Given the description of an element on the screen output the (x, y) to click on. 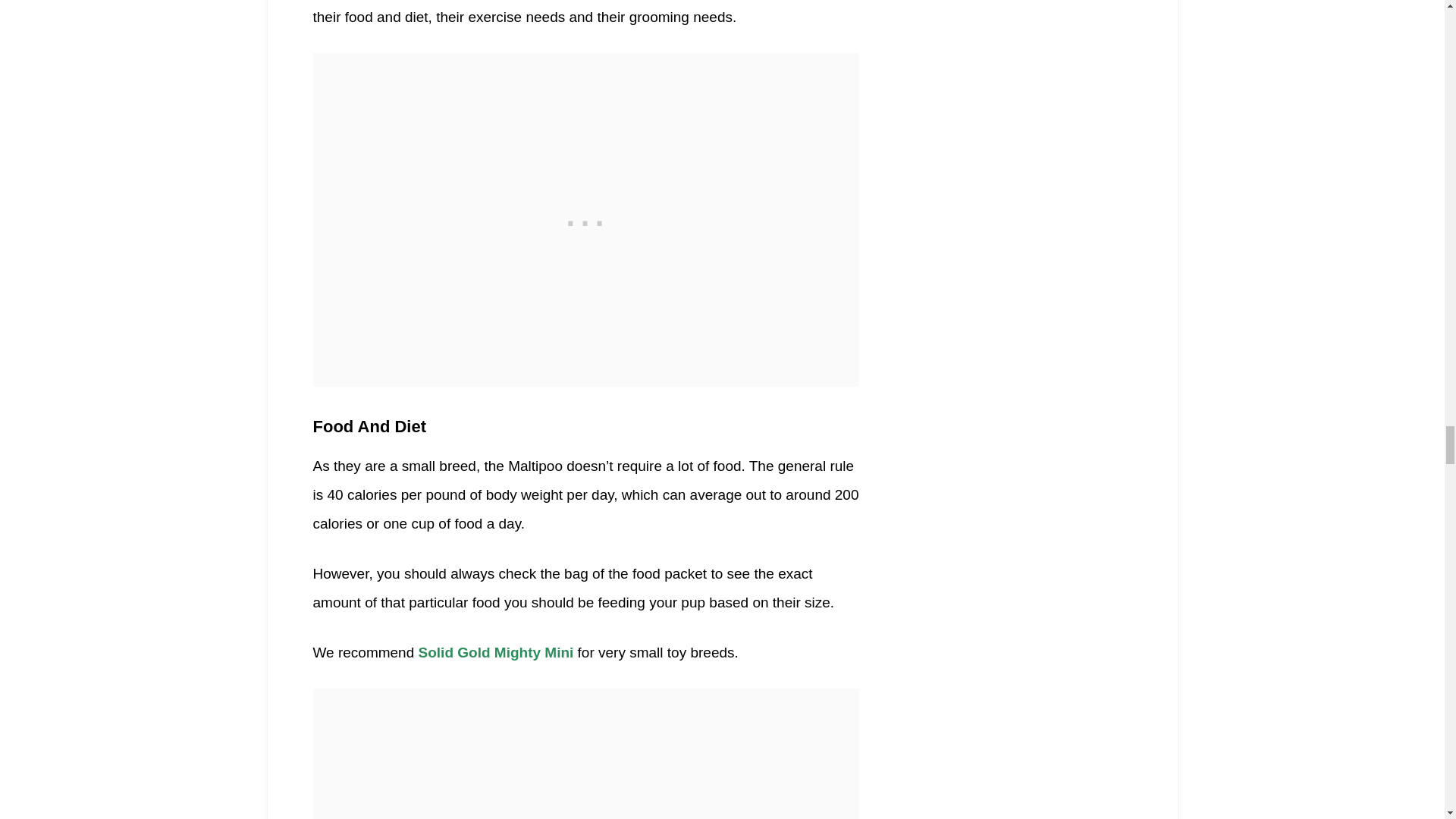
Solid Gold Mighty Mini (498, 652)
